Given the description of an element on the screen output the (x, y) to click on. 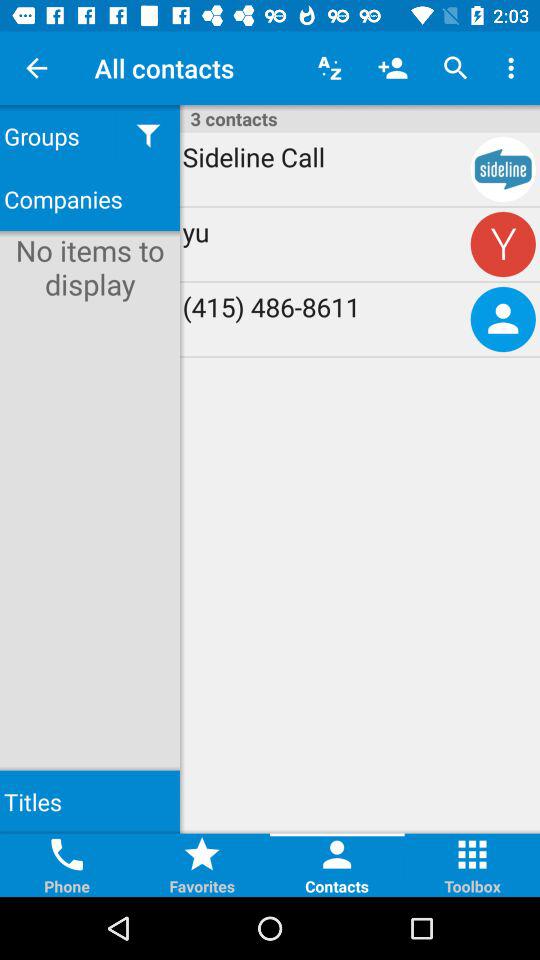
launch item above the companies item (58, 136)
